Given the description of an element on the screen output the (x, y) to click on. 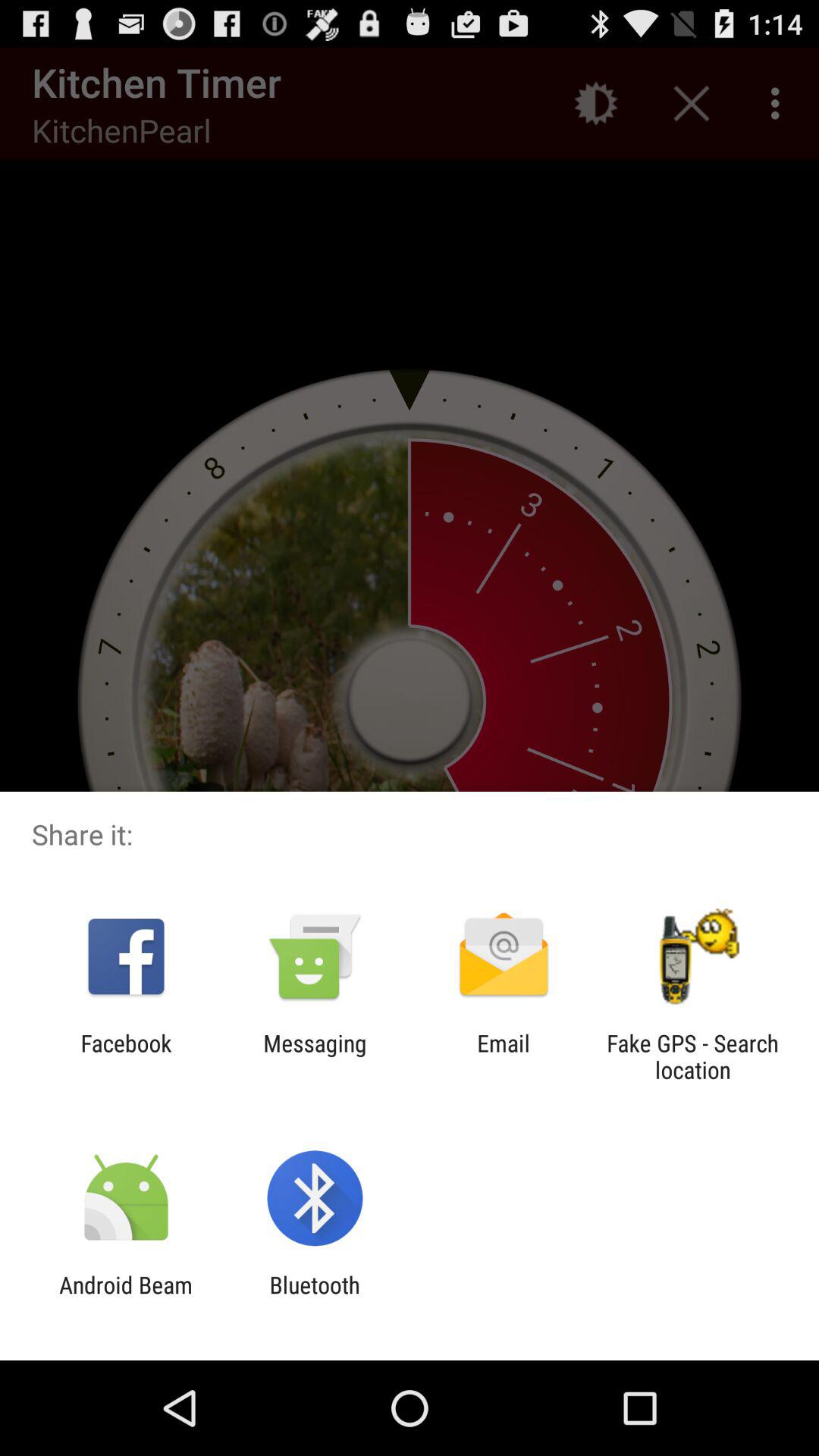
open item to the right of the android beam item (314, 1298)
